Given the description of an element on the screen output the (x, y) to click on. 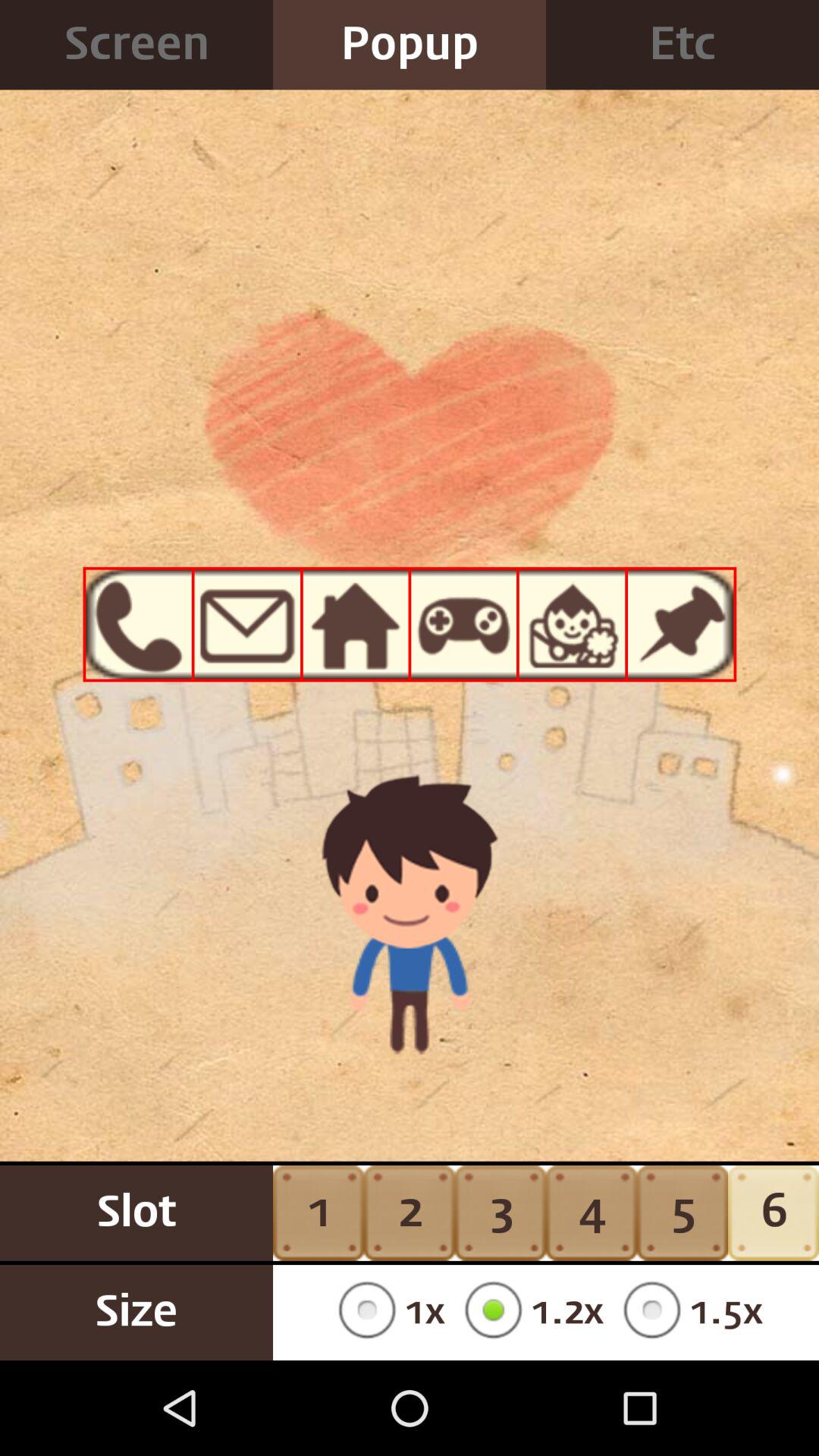
press item to the left of 3 (386, 1312)
